Given the description of an element on the screen output the (x, y) to click on. 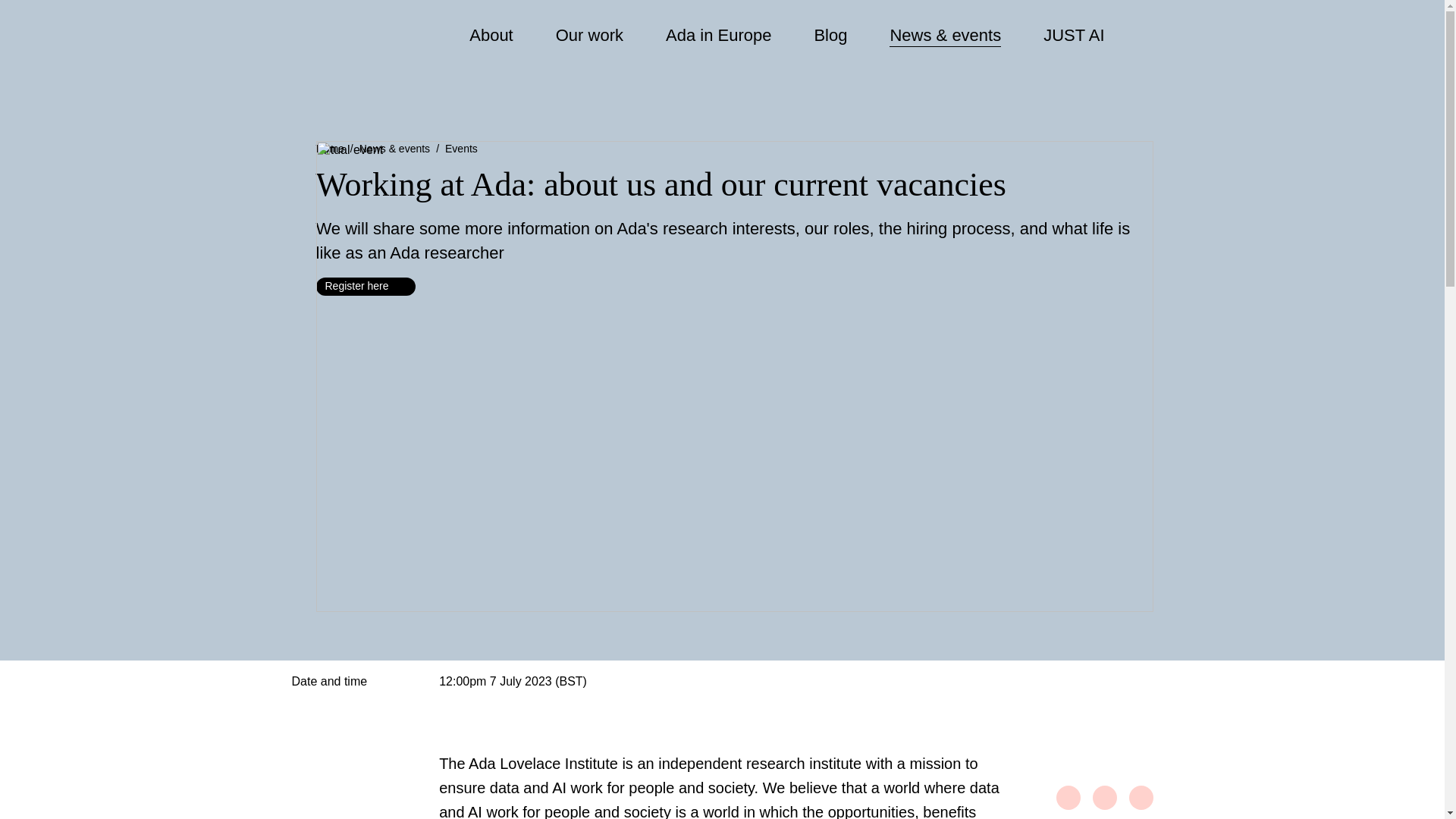
About (491, 36)
Home (329, 148)
Blog (830, 36)
Share on Twitter (1104, 797)
Ada in Europe (718, 36)
JUST AI (1073, 36)
Our work (588, 36)
Events (461, 148)
Share on LinkedIn (1140, 797)
Register here (364, 286)
